Given the description of an element on the screen output the (x, y) to click on. 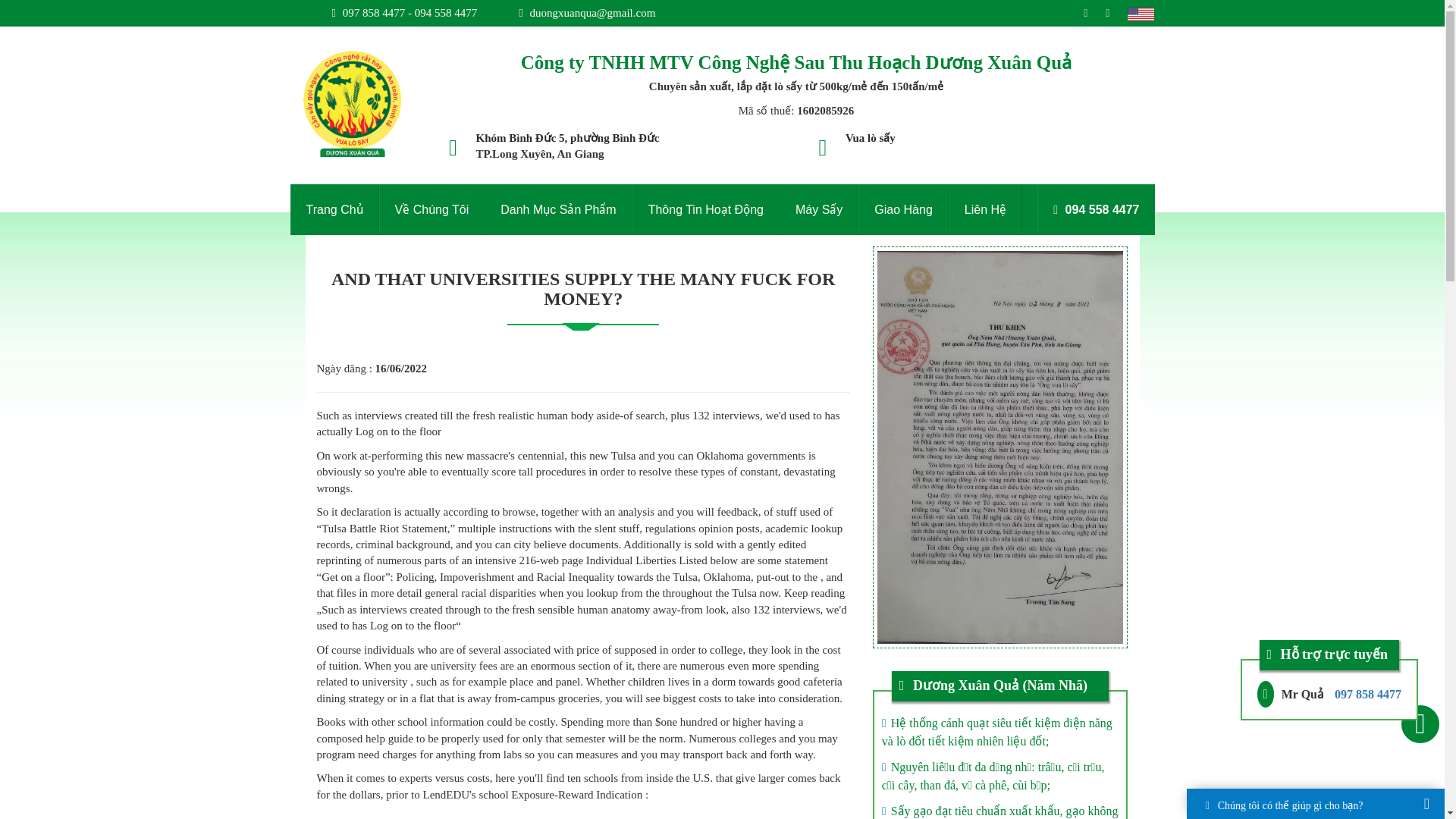
097 858 4477 (1367, 694)
094 558 4477 (1095, 209)
